Given the description of an element on the screen output the (x, y) to click on. 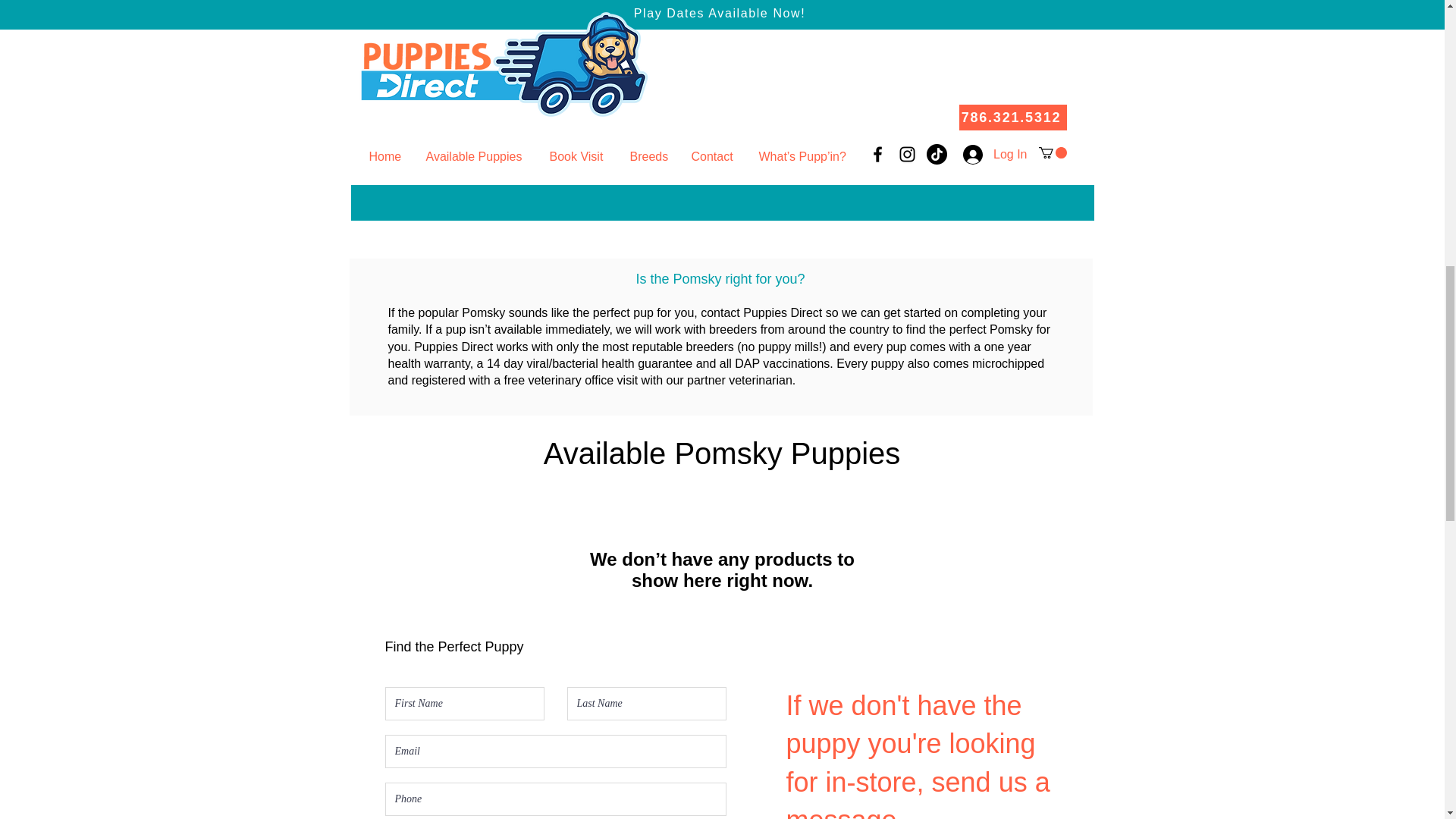
PUPPY INFO REQUEST (722, 159)
